Given the description of an element on the screen output the (x, y) to click on. 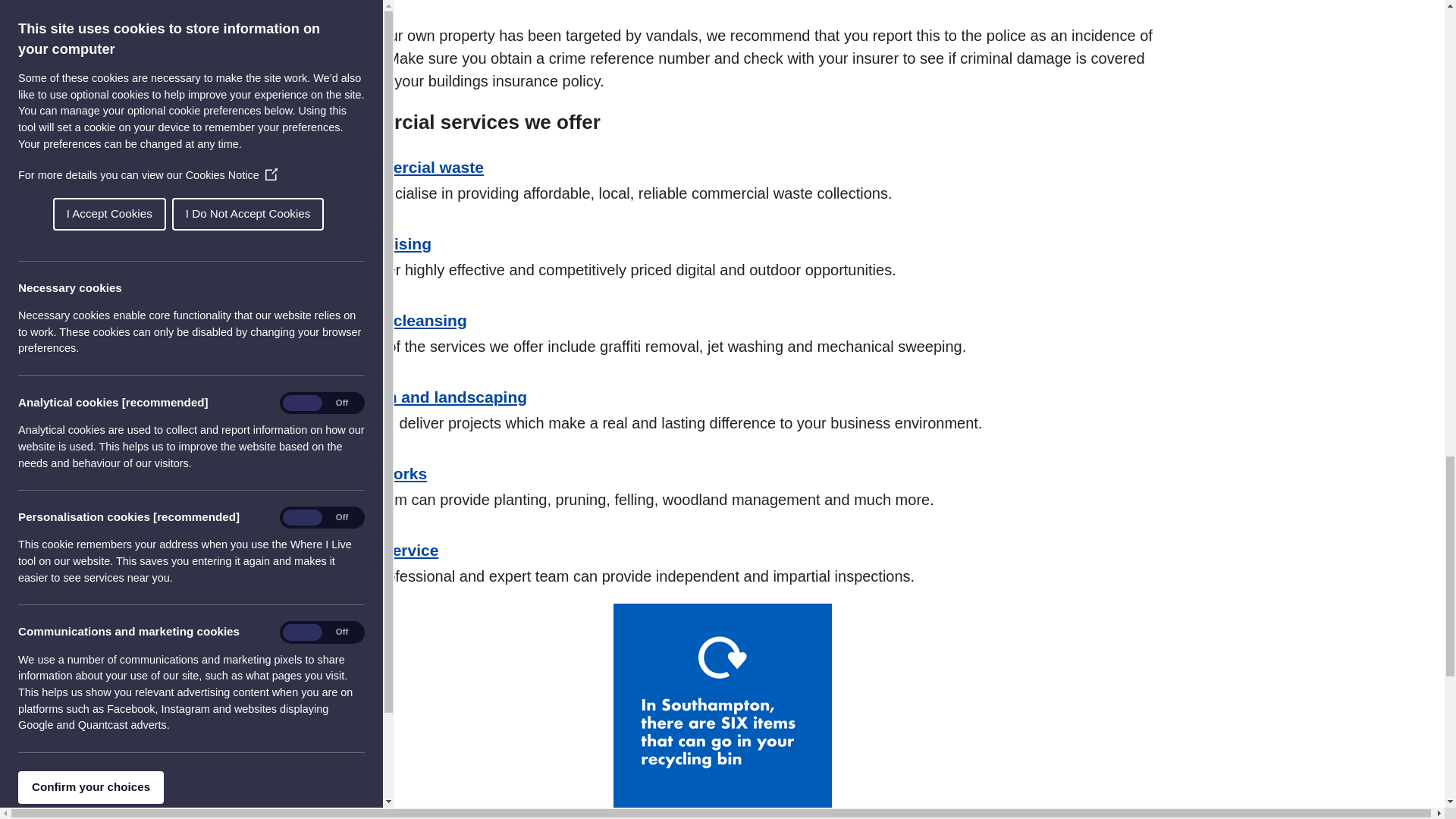
Commercial waste (413, 167)
Outdoor advertising in Southampton (387, 243)
Commercial Waste (413, 167)
Design and landscaping (435, 396)
Advertising (387, 243)
Advertising icon (304, 258)
Commercial design and landscaping services (435, 396)
Landscaping icon (304, 411)
Tree works icon (304, 488)
Street cleansing (405, 320)
Commercial tree work services (385, 473)
Commercial waste icon (304, 182)
Street cleansing icon (304, 335)
Commercial street cleansing services (405, 320)
